Given the description of an element on the screen output the (x, y) to click on. 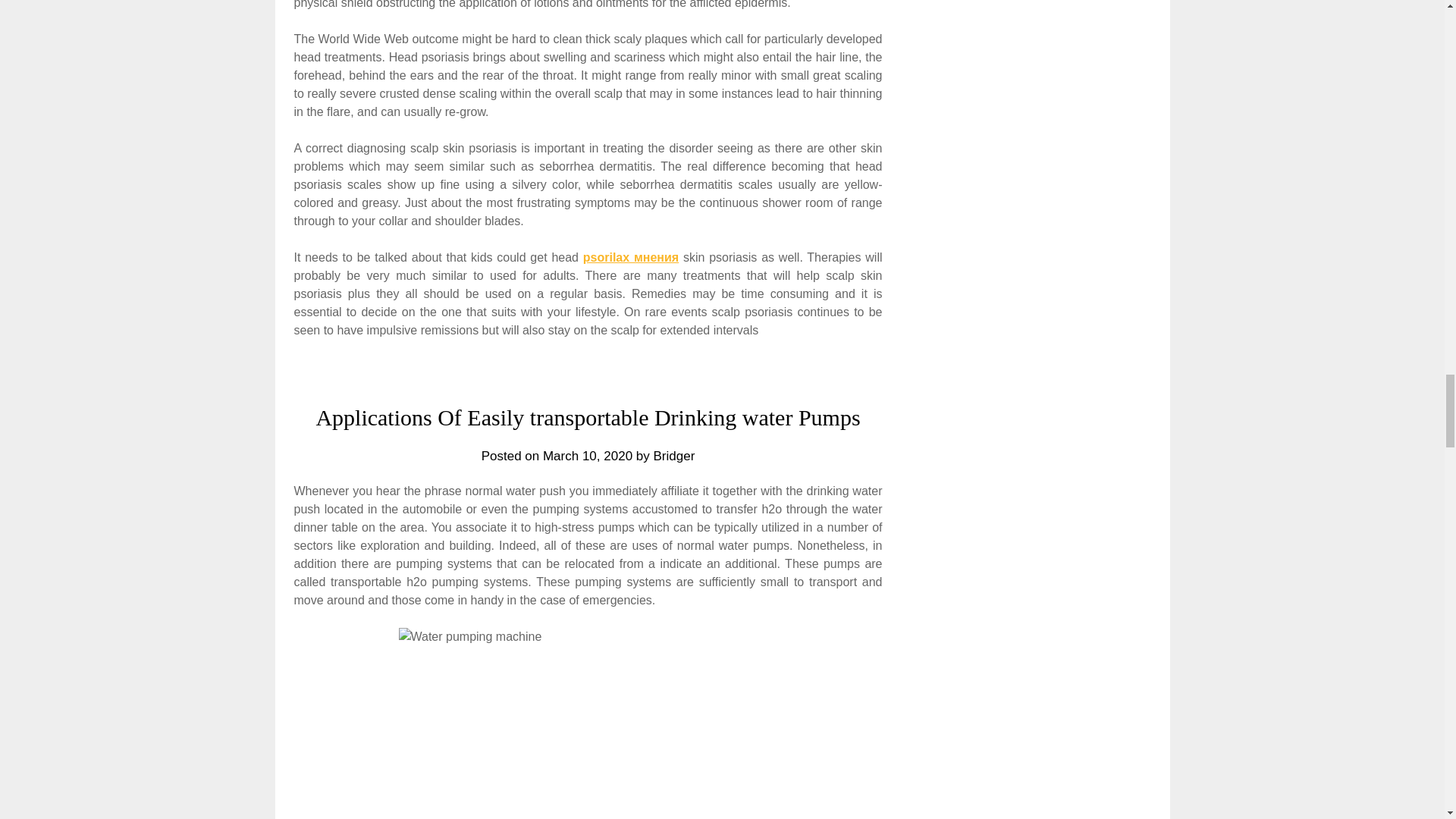
Bridger (674, 455)
Applications Of Easily transportable Drinking water Pumps (587, 416)
March 10, 2020 (587, 455)
